Given the description of an element on the screen output the (x, y) to click on. 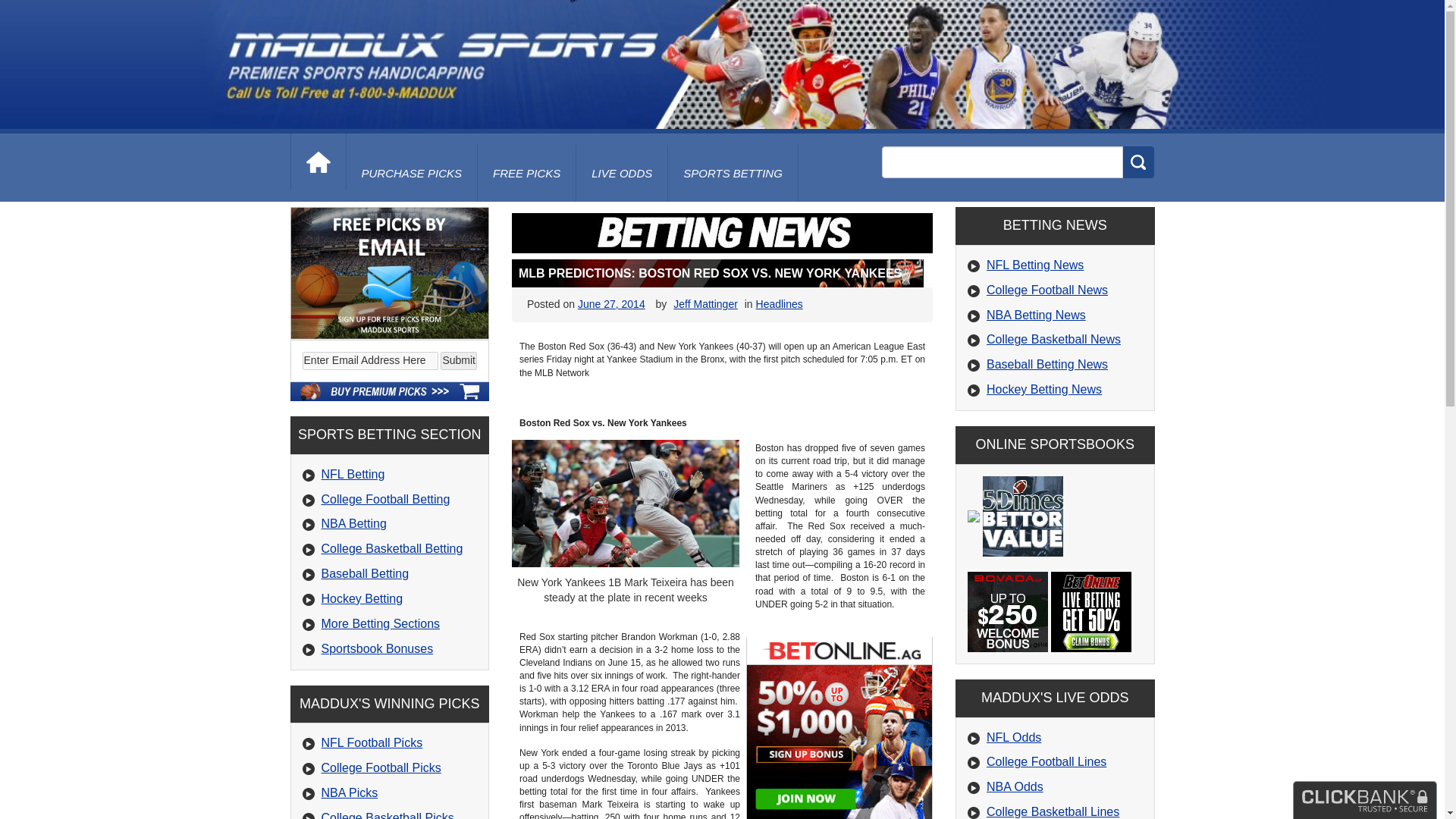
Enter Email Address Here (370, 361)
Submit (459, 361)
